Given the description of an element on the screen output the (x, y) to click on. 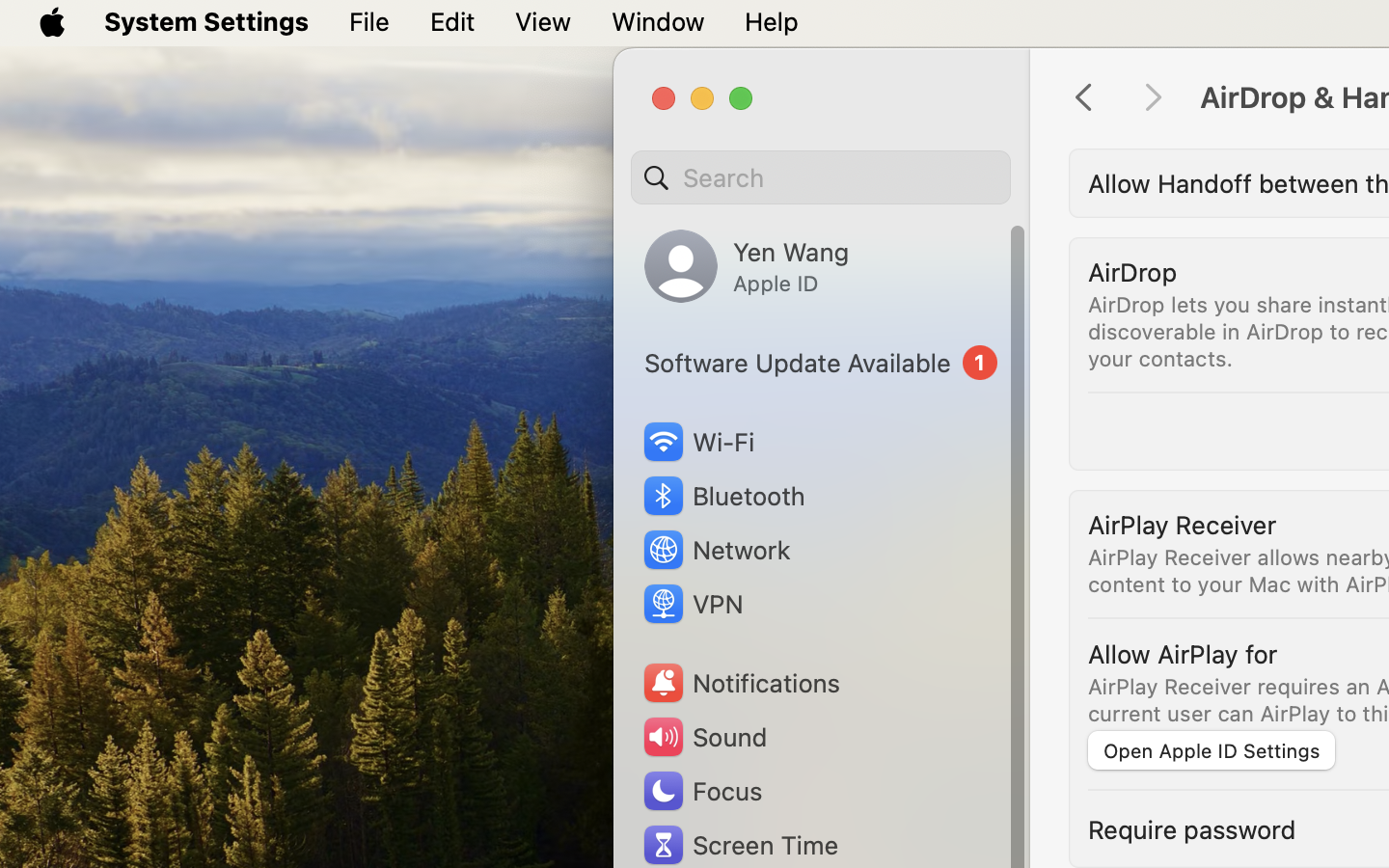
Require password Element type: AXStaticText (1192, 828)
Notifications Element type: AXStaticText (740, 682)
Wi‑Fi Element type: AXStaticText (697, 441)
Sound Element type: AXStaticText (703, 736)
Allow AirPlay for Element type: AXStaticText (1182, 653)
